Given the description of an element on the screen output the (x, y) to click on. 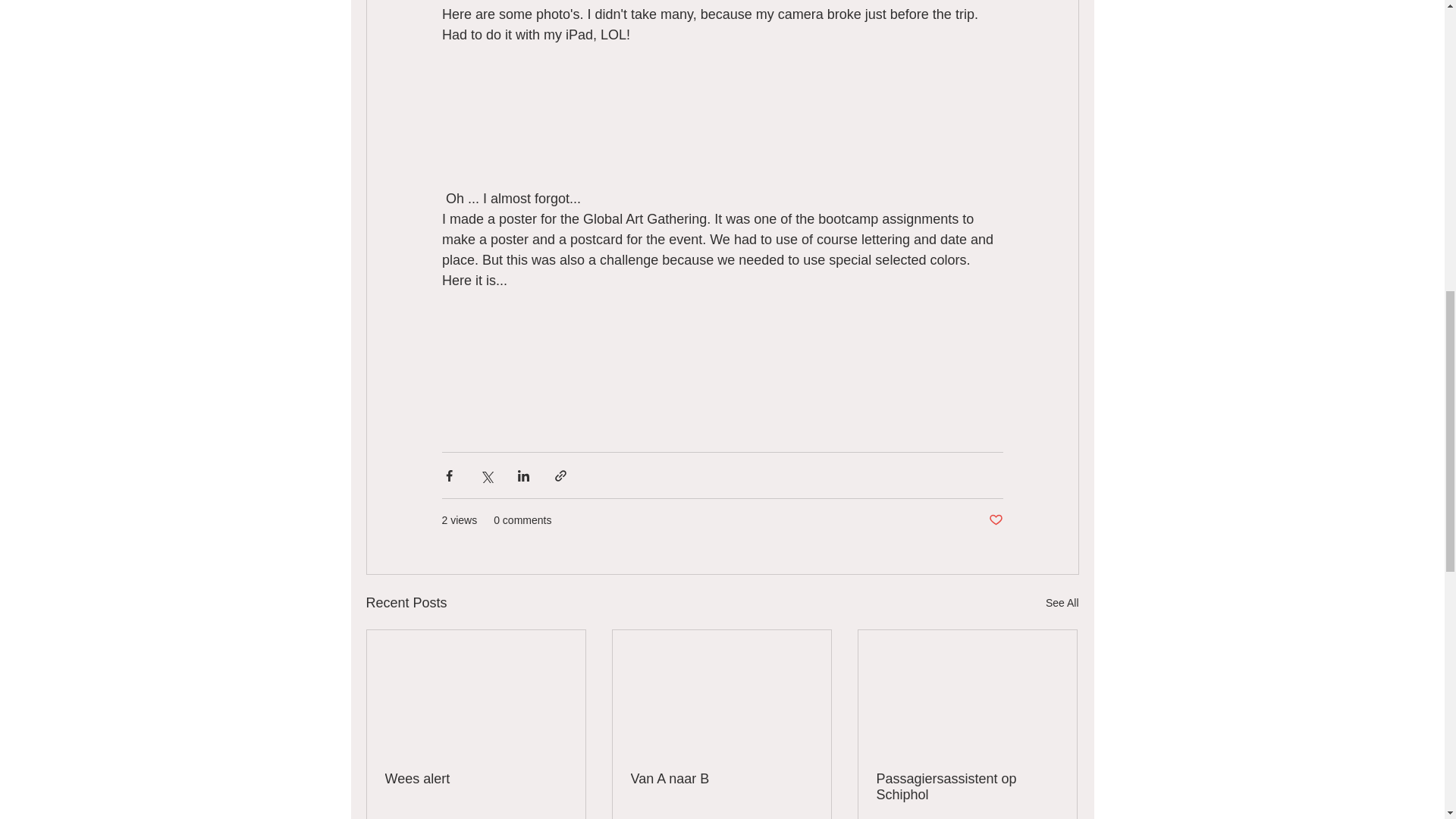
Post not marked as liked (995, 520)
See All (1061, 603)
Wees alert (476, 779)
